Given the description of an element on the screen output the (x, y) to click on. 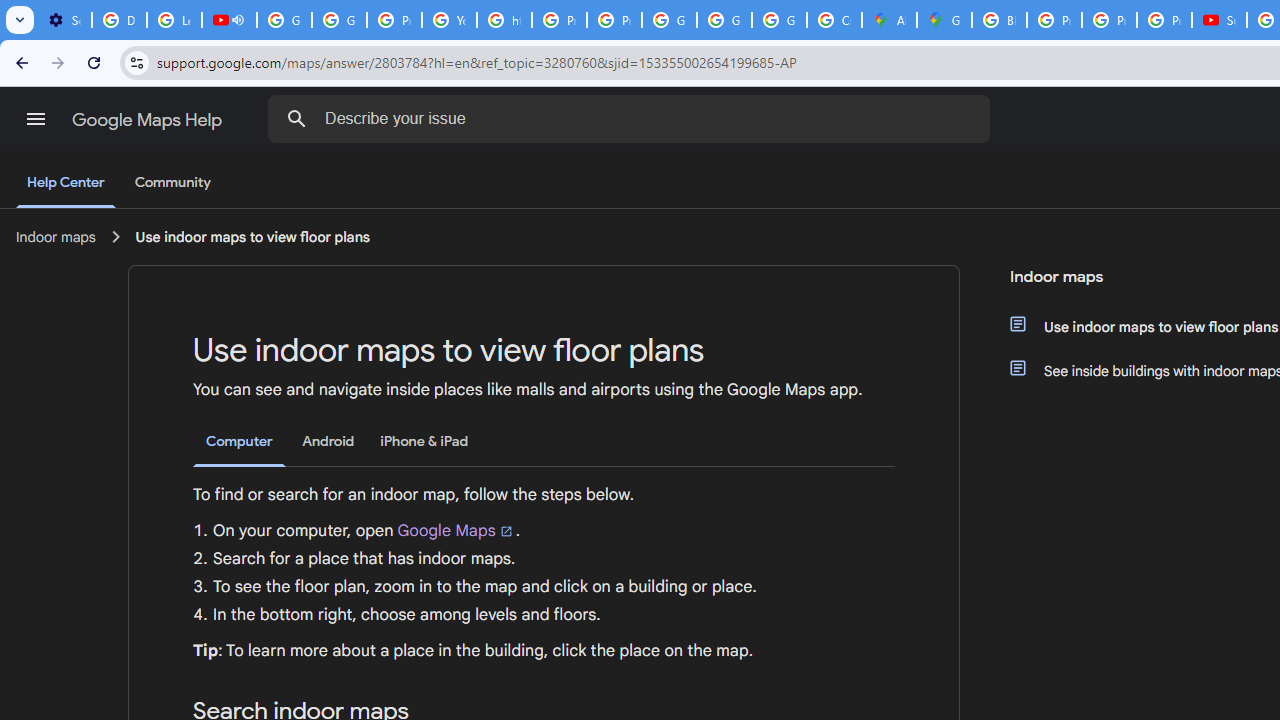
Settings - Customize profile (64, 20)
Privacy Help Center - Policies Help (394, 20)
Blogger Policies and Guidelines - Transparency Center (998, 20)
Delete photos & videos - Computer - Google Photos Help (119, 20)
Android (328, 441)
Community (171, 183)
Privacy Help Center - Policies Help (1108, 20)
Privacy Help Center - Policies Help (559, 20)
Privacy Help Center - Policies Help (1053, 20)
